Given the description of an element on the screen output the (x, y) to click on. 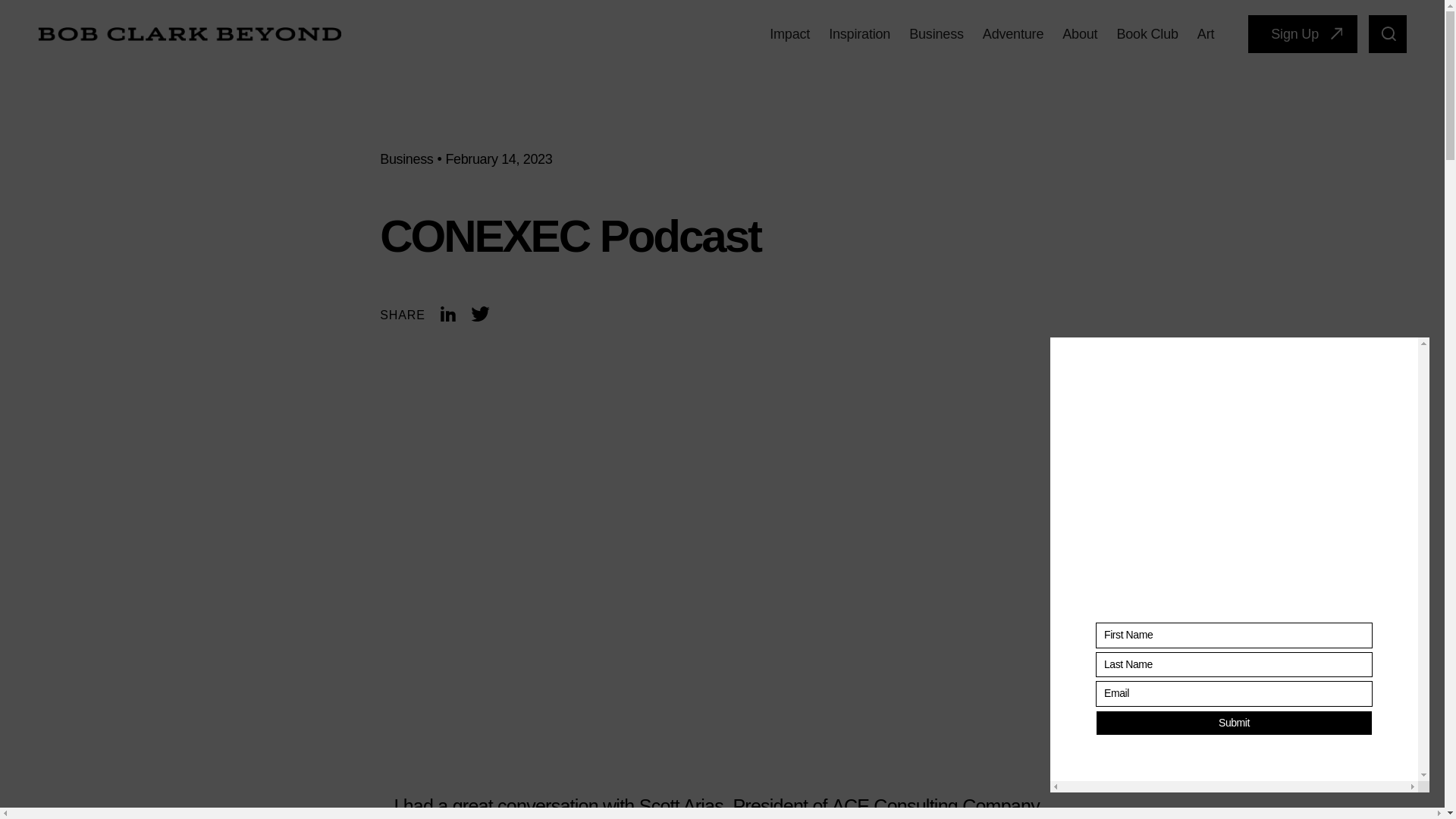
Adventure (1012, 33)
Business (935, 33)
Impact (789, 33)
Book Club (1146, 33)
Business (406, 159)
About (1079, 33)
Submit (1234, 722)
Scott Arias (681, 805)
Sign Up (1301, 34)
ACE Consulting Company, LLC (717, 807)
Inspiration (858, 33)
